Given the description of an element on the screen output the (x, y) to click on. 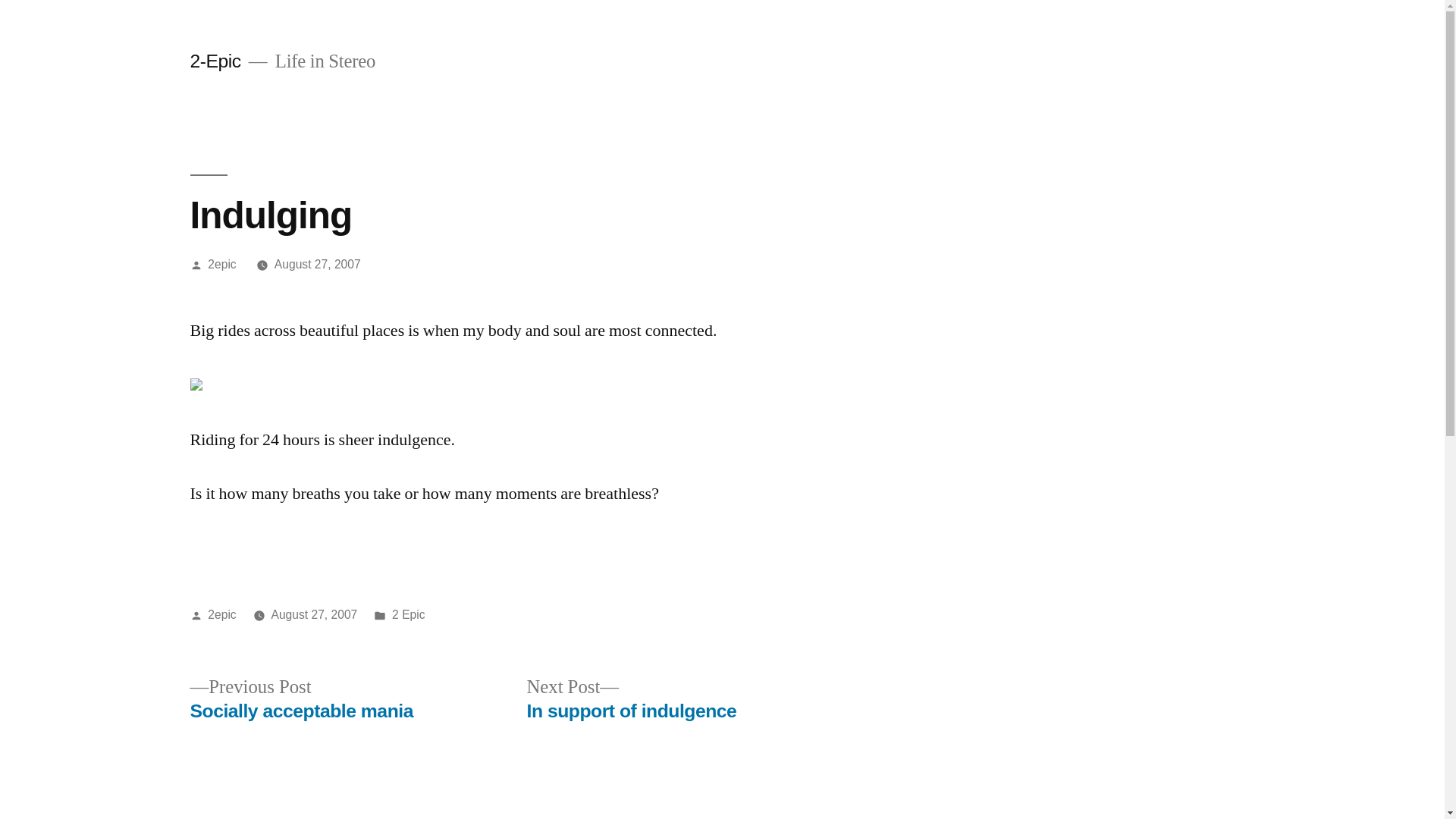
Next Post
Next post:

In support of indulgence Element type: text (631, 699)
2 Epic Element type: text (408, 614)
August 27, 2007 Element type: text (313, 614)
2epic Element type: text (221, 614)
August 27, 2007 Element type: text (317, 263)
2-Epic Element type: text (214, 60)
2epic Element type: text (221, 263)
Previous Post
Previous post:

Socially acceptable mania Element type: text (300, 699)
